Given the description of an element on the screen output the (x, y) to click on. 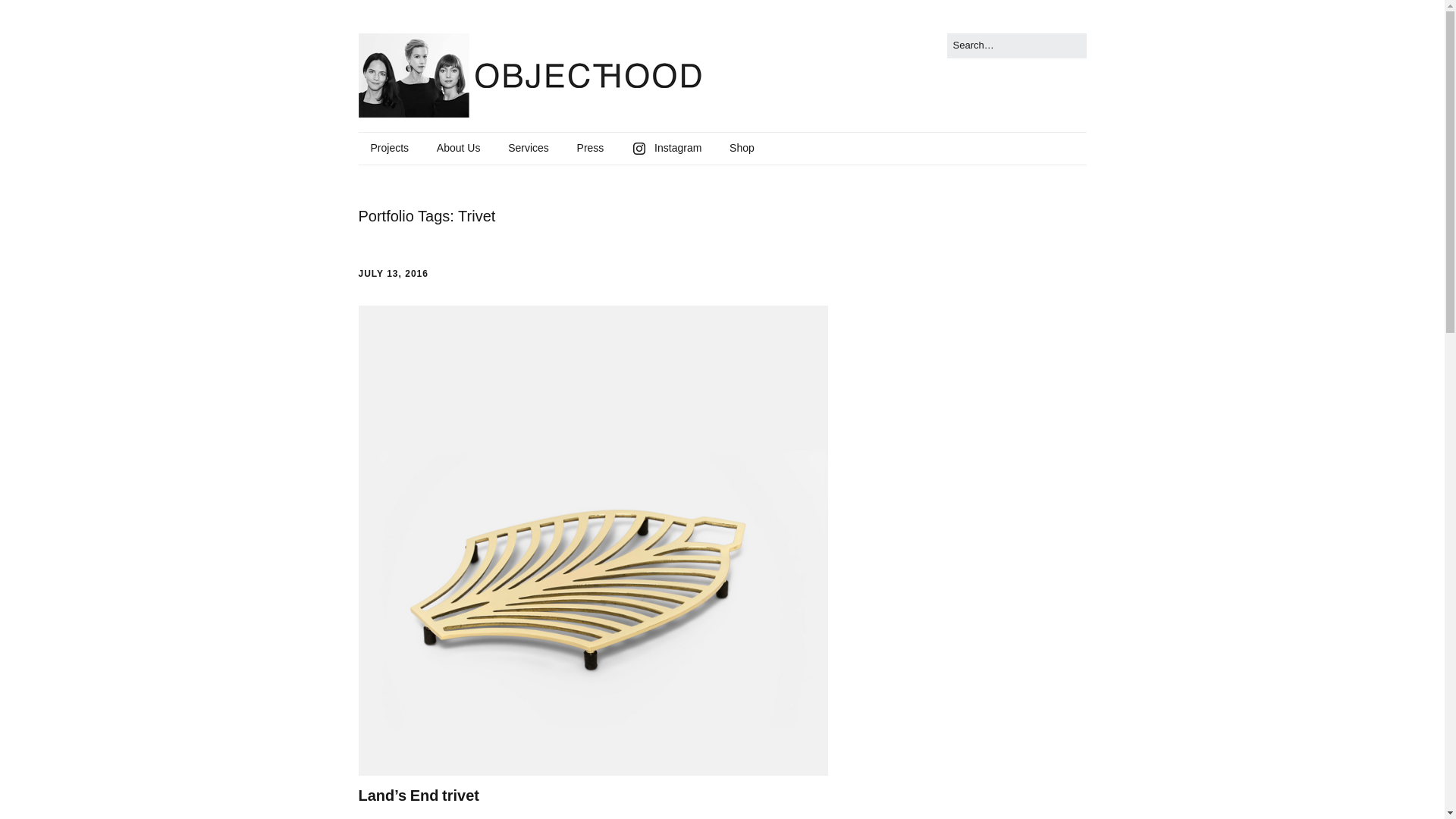
Shop (742, 148)
Projects (389, 148)
Services (528, 148)
Press Enter to submit your search (1016, 45)
JULY 13, 2016 (393, 273)
Press (589, 148)
Instagram (666, 148)
Search (29, 15)
About Us (459, 148)
